Given the description of an element on the screen output the (x, y) to click on. 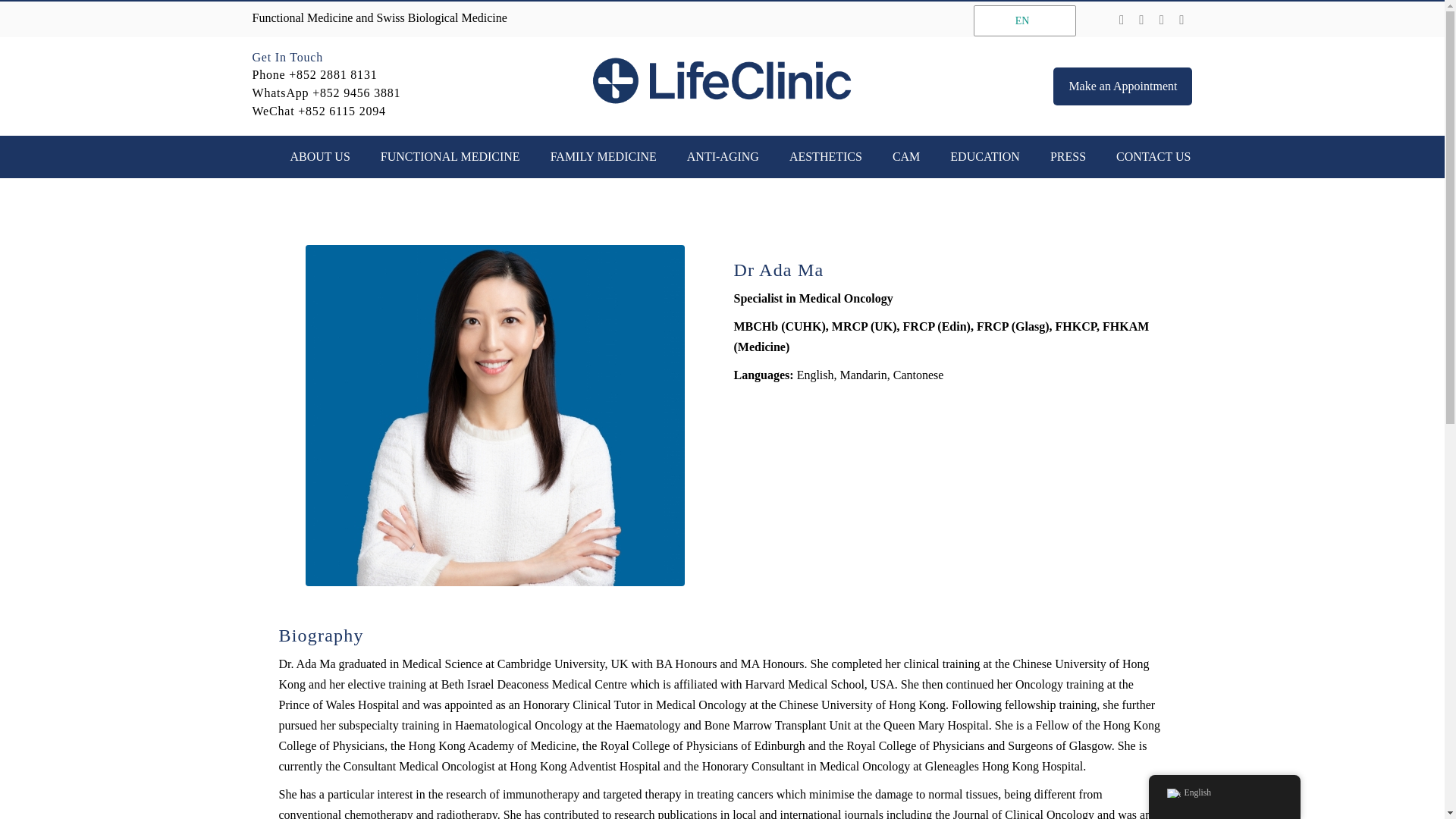
FUNCTIONAL MEDICINE (450, 156)
English (1172, 792)
EN (1021, 21)
English (1021, 21)
Dr Ada Ma (494, 415)
ABOUT US (320, 156)
Make an Appointment (1122, 86)
